Given the description of an element on the screen output the (x, y) to click on. 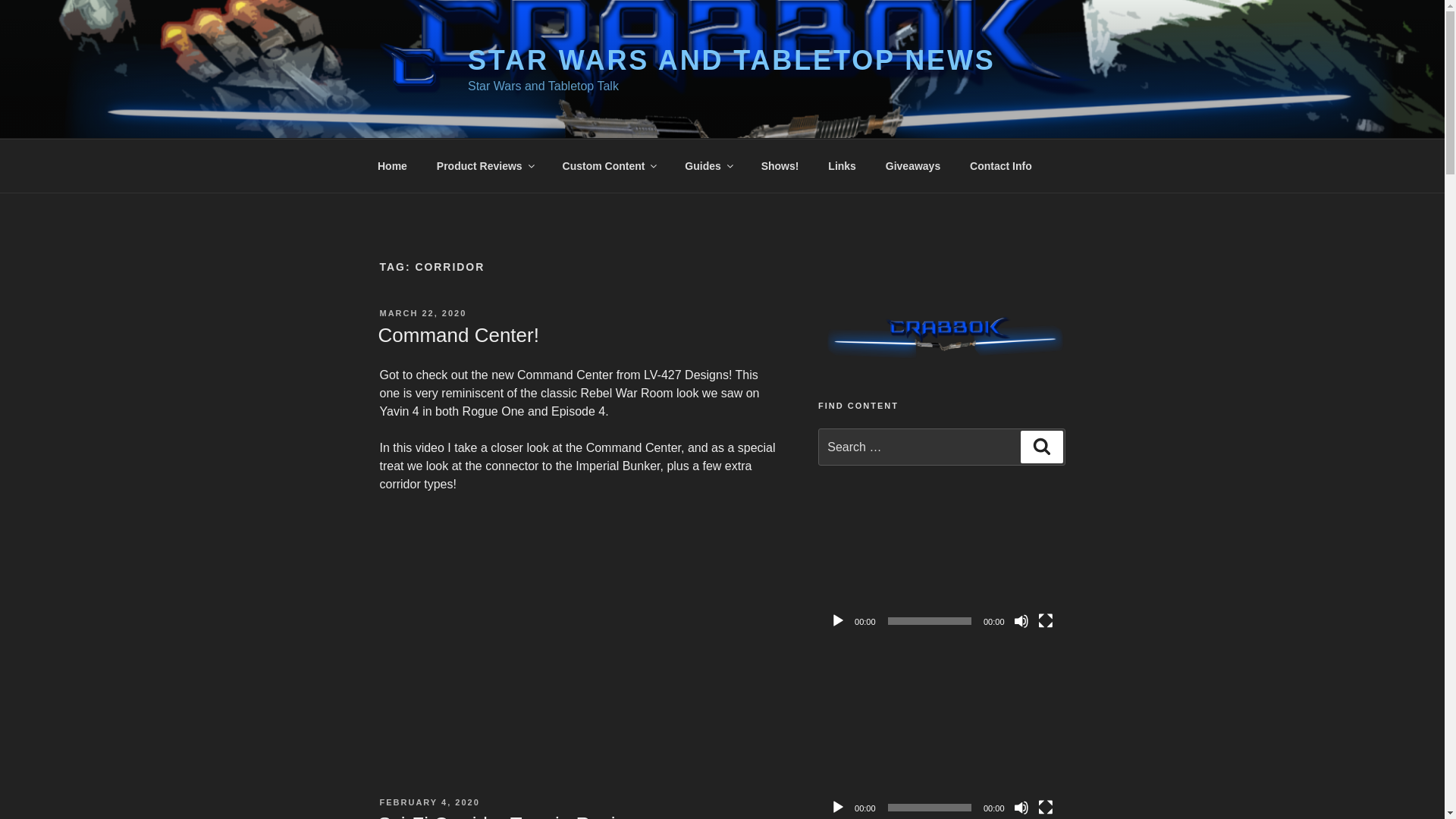
Command Center! (457, 334)
Play (837, 620)
FEBRUARY 4, 2020 (428, 801)
Product Reviews (484, 165)
Search (1041, 446)
Mute (1020, 620)
Home (392, 165)
Contact Info (1000, 165)
MARCH 22, 2020 (421, 312)
STAR WARS AND TABLETOP NEWS (731, 60)
Play (837, 807)
Giveaways (912, 165)
Custom Content (608, 165)
Sci-Fi Corridor Terrain Reviews (513, 816)
Fullscreen (1044, 807)
